Given the description of an element on the screen output the (x, y) to click on. 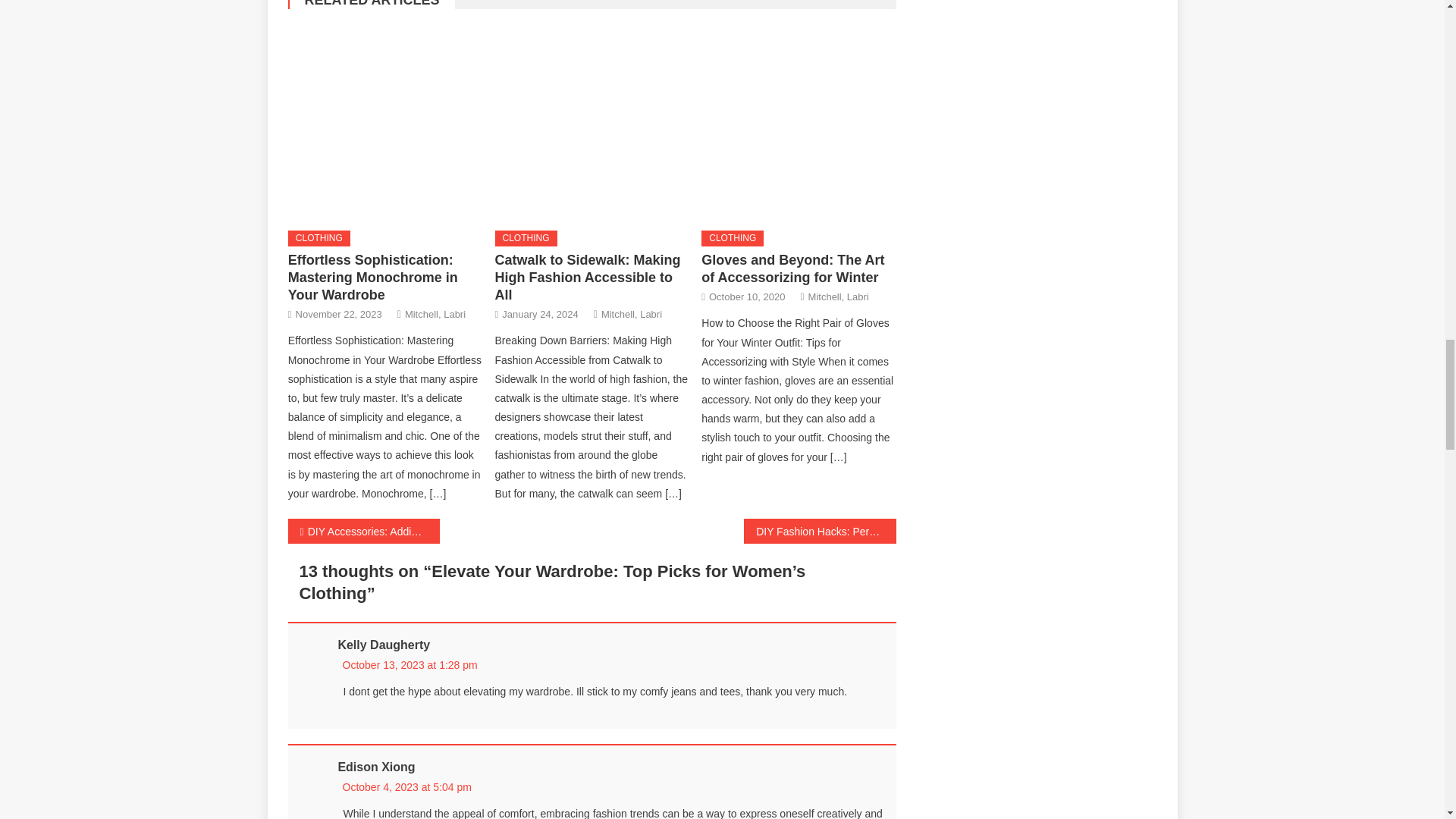
Catwalk to Sidewalk: Making High Fashion Accessible to All (588, 277)
Gloves and Beyond: The Art of Accessorizing for Winter (798, 121)
January 24, 2024 (540, 313)
Mitchell, Labri (631, 313)
Mitchell, Labri (434, 313)
CLOTHING (319, 238)
November 22, 2023 (338, 313)
CLOTHING (526, 238)
Catwalk to Sidewalk: Making High Fashion Accessible to All (591, 121)
